Given the description of an element on the screen output the (x, y) to click on. 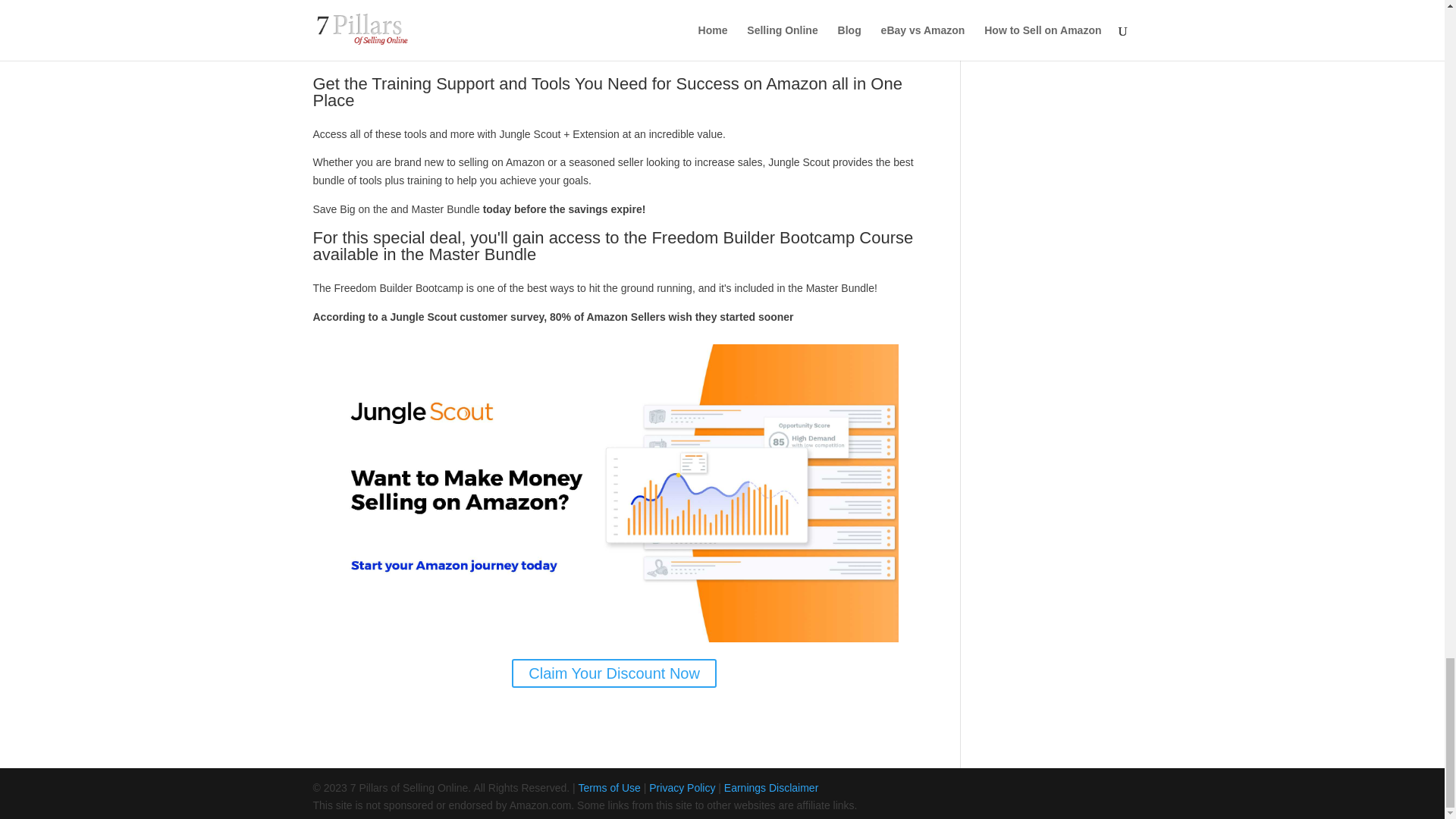
Terms of Use (609, 787)
Claim Your Discount Now (614, 673)
Privacy Policy (681, 787)
